Given the description of an element on the screen output the (x, y) to click on. 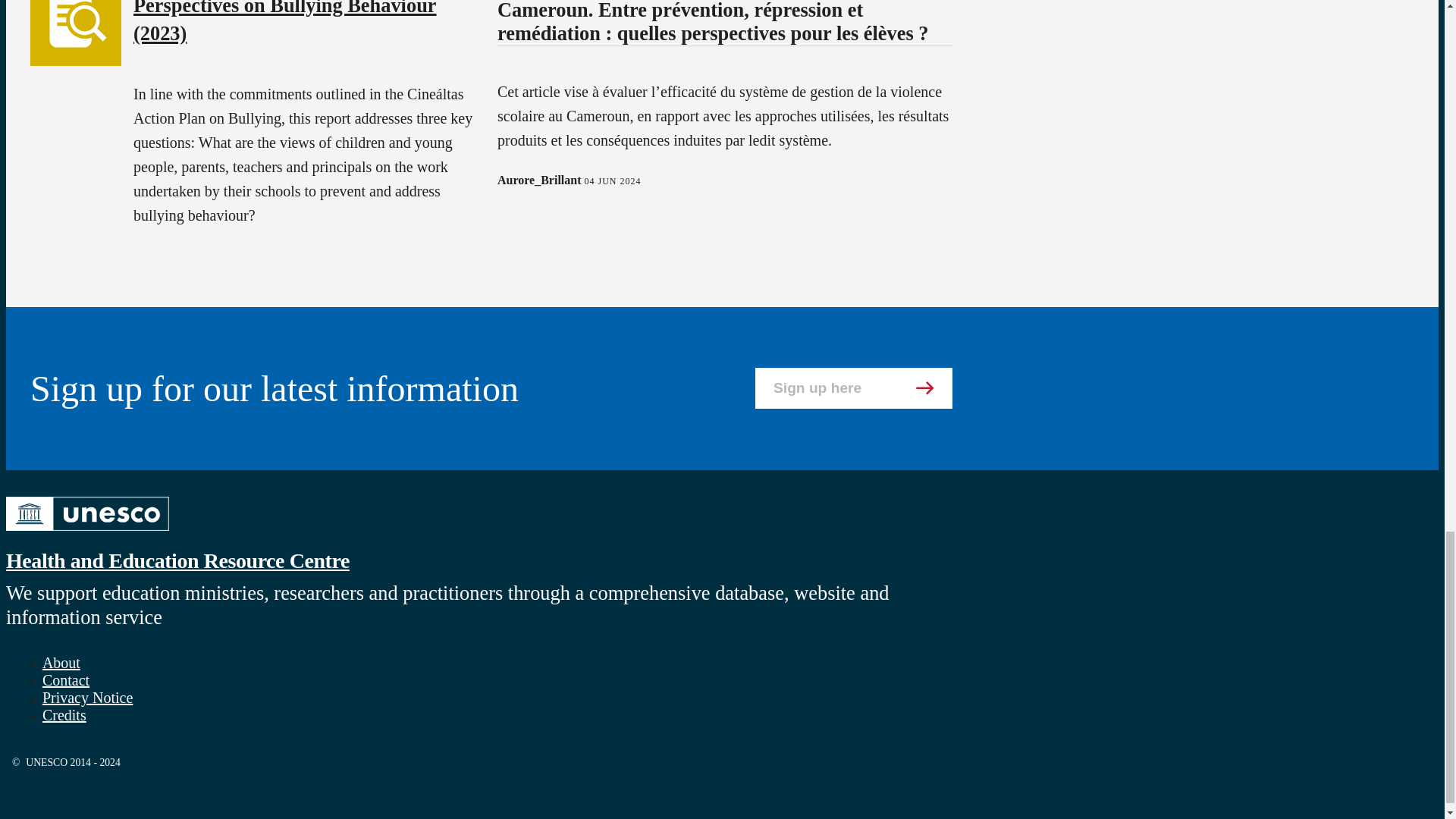
Home (86, 532)
Home (177, 560)
